Given the description of an element on the screen output the (x, y) to click on. 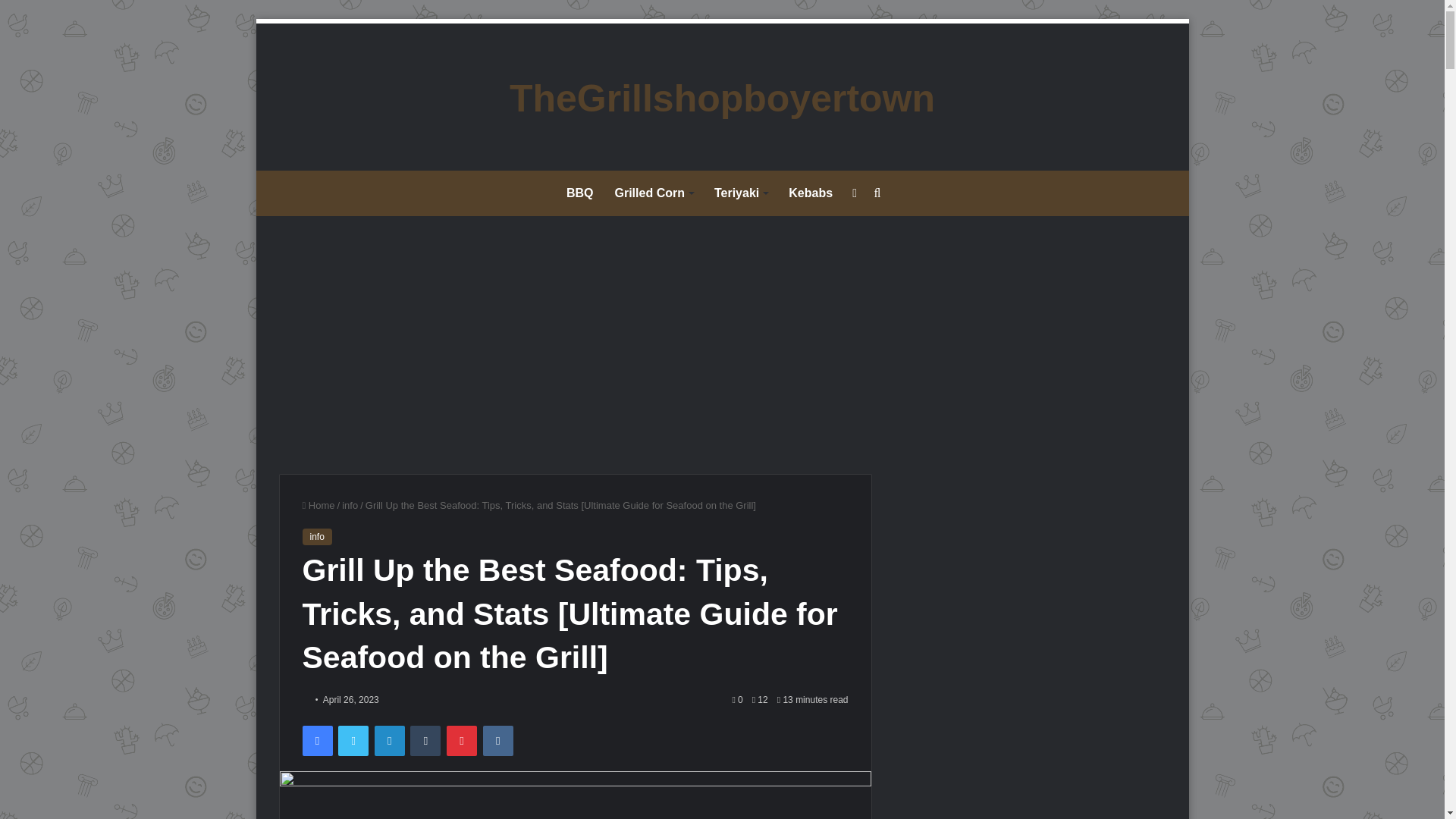
Grilled Corn (653, 193)
LinkedIn (389, 740)
Twitter (352, 740)
TheGrillshopboyertown (721, 98)
VKontakte (498, 740)
Tumblr (425, 740)
info (316, 536)
Pinterest (461, 740)
TheGrillshopboyertown (721, 98)
Facebook (316, 740)
